Given the description of an element on the screen output the (x, y) to click on. 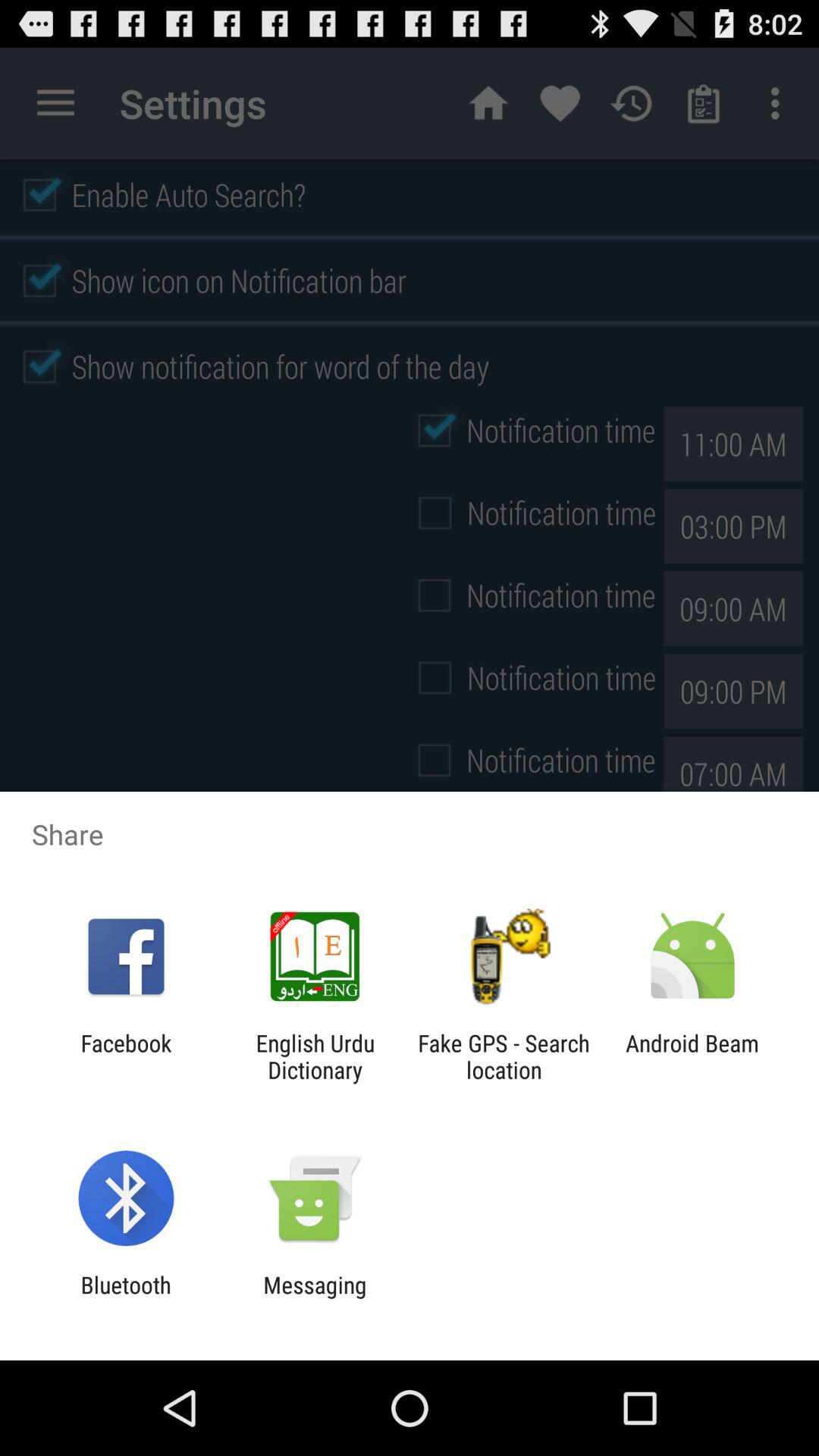
select the app next to facebook app (314, 1056)
